Given the description of an element on the screen output the (x, y) to click on. 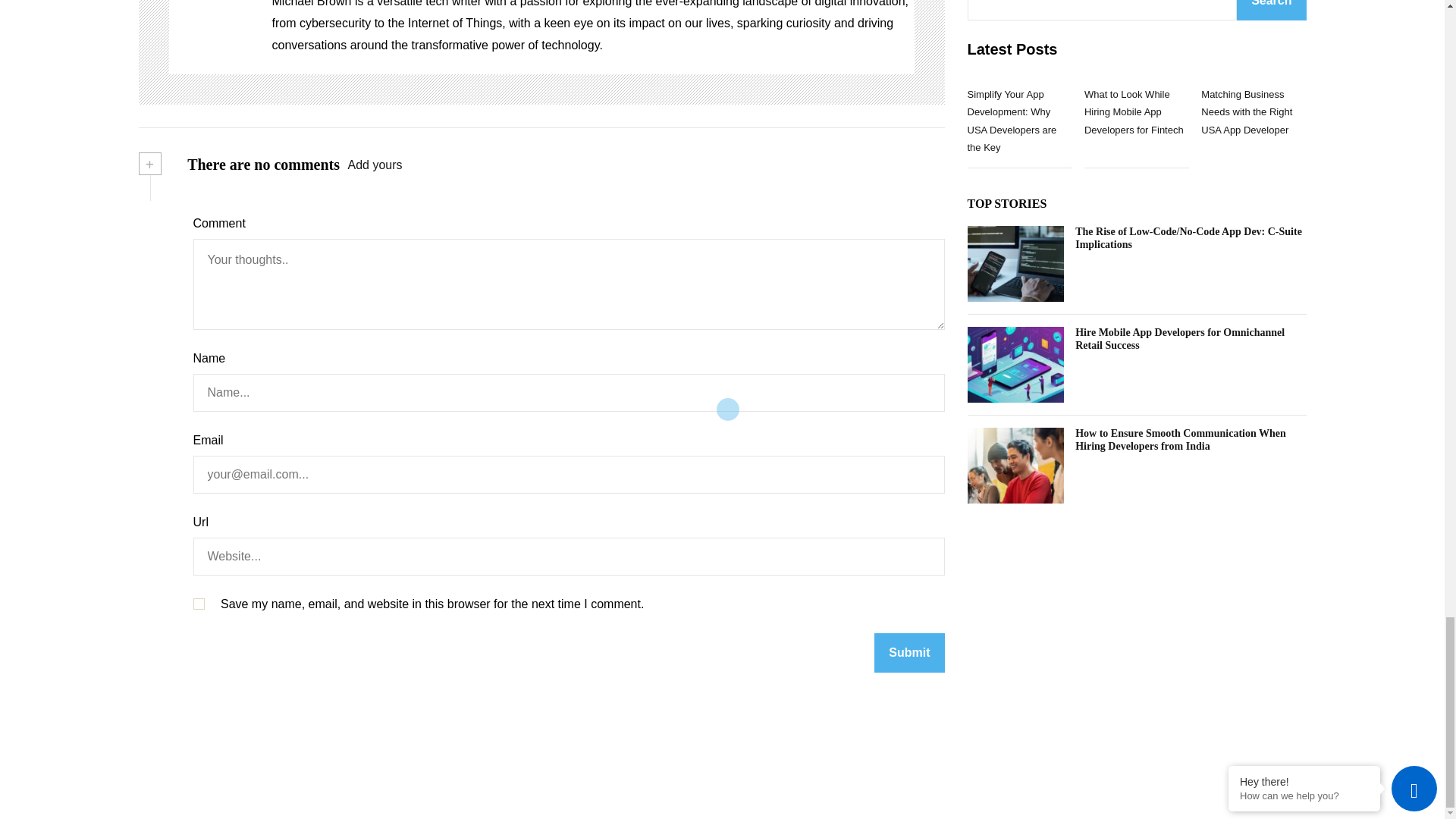
yes (197, 603)
Submit (909, 652)
Michael Brown (212, 29)
